Given the description of an element on the screen output the (x, y) to click on. 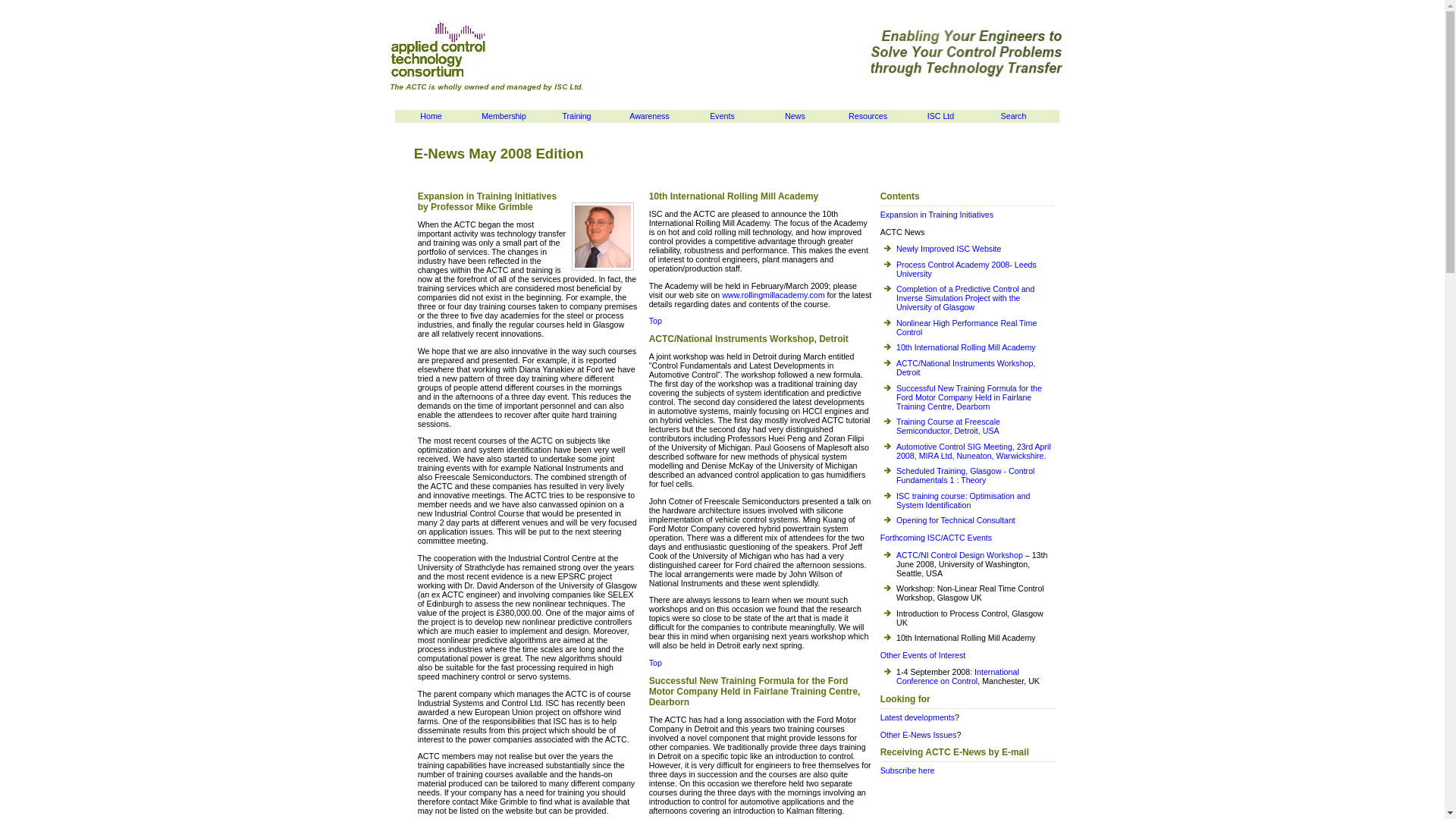
Home (527, 203)
ISC Ltd (430, 115)
Membership (940, 115)
Awareness (503, 115)
News (648, 115)
Search (794, 115)
Resources (1012, 115)
Training (867, 115)
Events (576, 115)
